Given the description of an element on the screen output the (x, y) to click on. 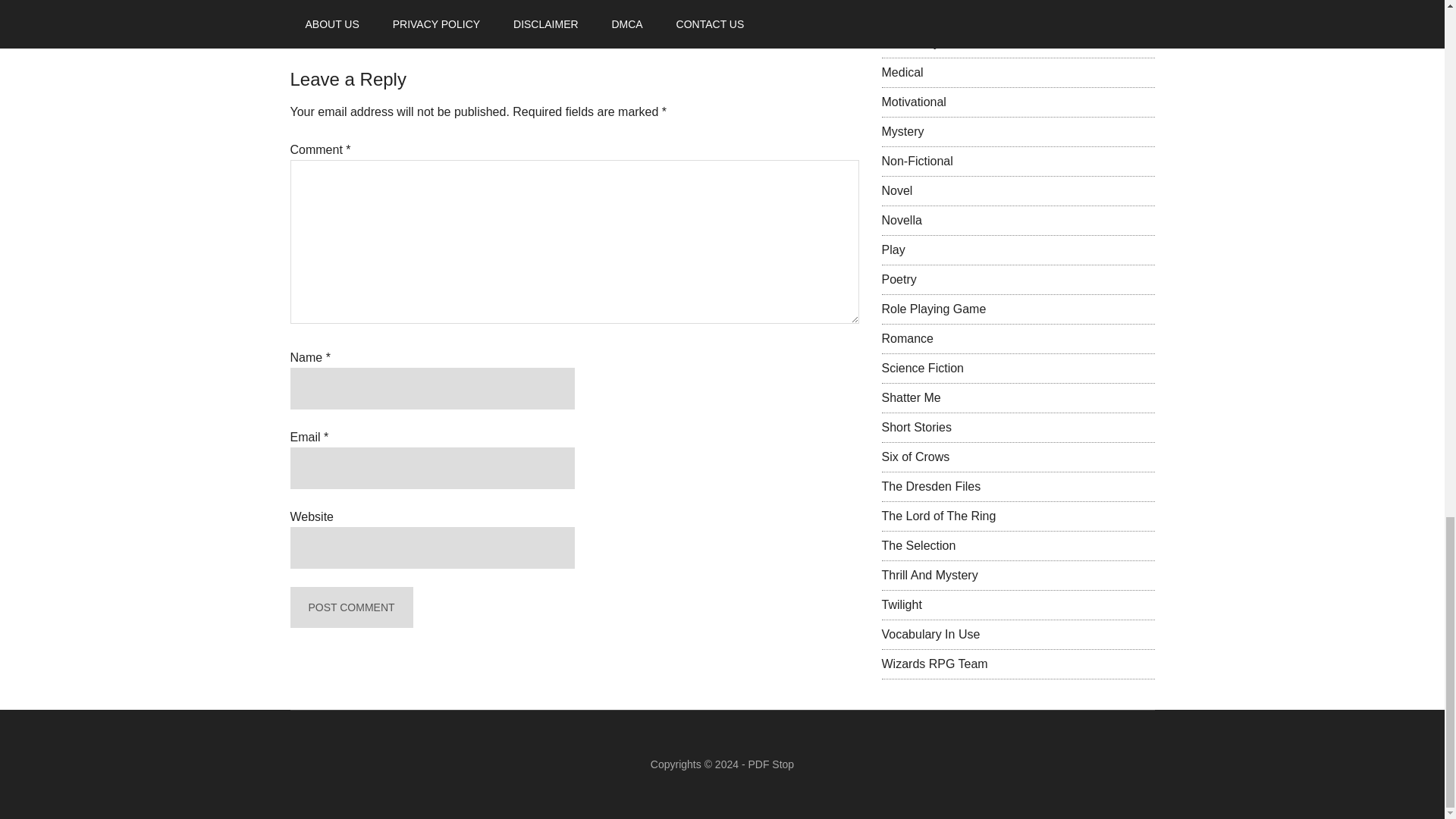
the fever code pdf (701, 1)
the fever code epub (507, 1)
the fever code ebook (404, 1)
Post Comment (350, 607)
the fever code mobi (605, 1)
Post Comment (350, 607)
